Given the description of an element on the screen output the (x, y) to click on. 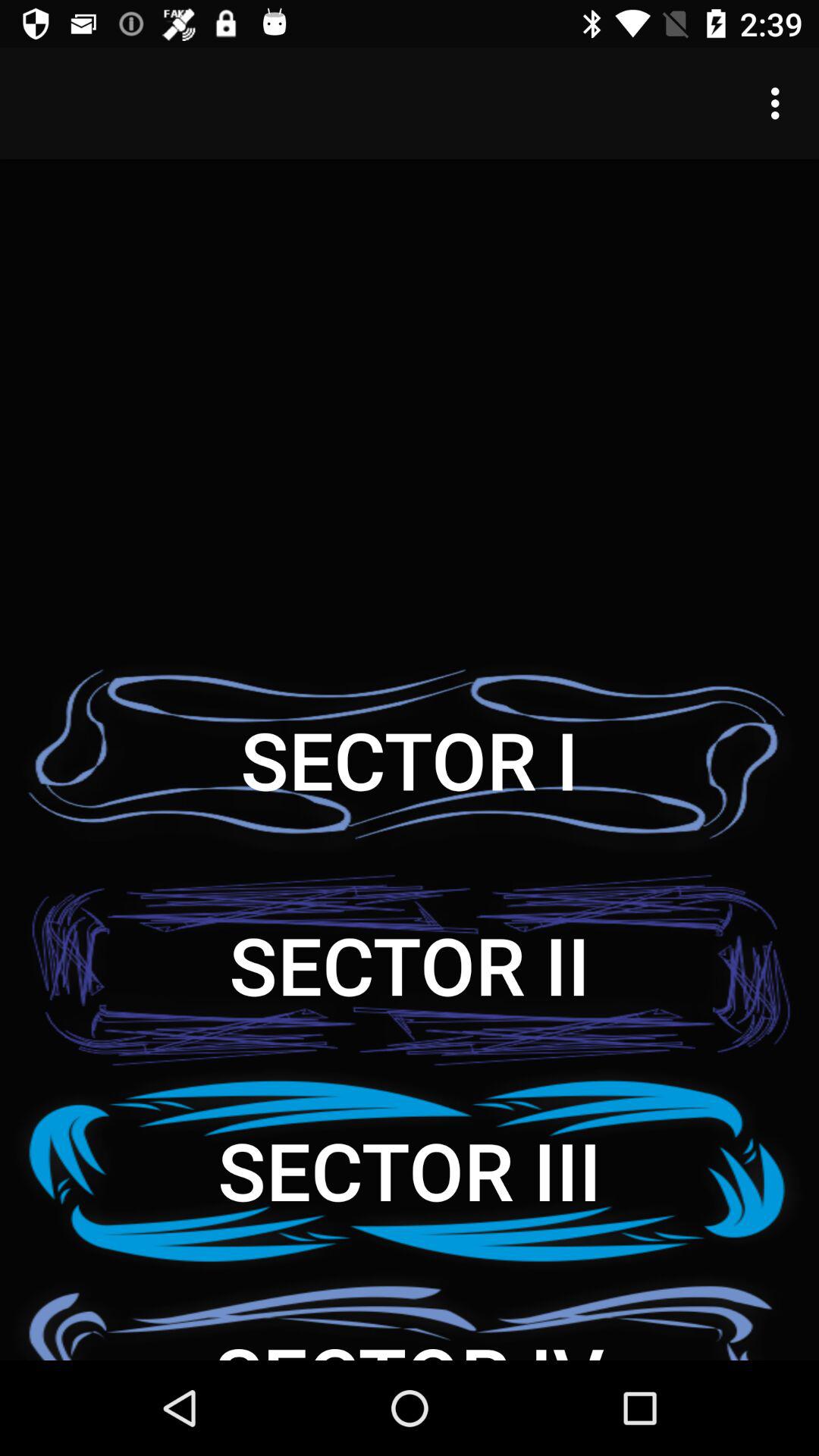
swipe to the sector iv icon (409, 1316)
